Given the description of an element on the screen output the (x, y) to click on. 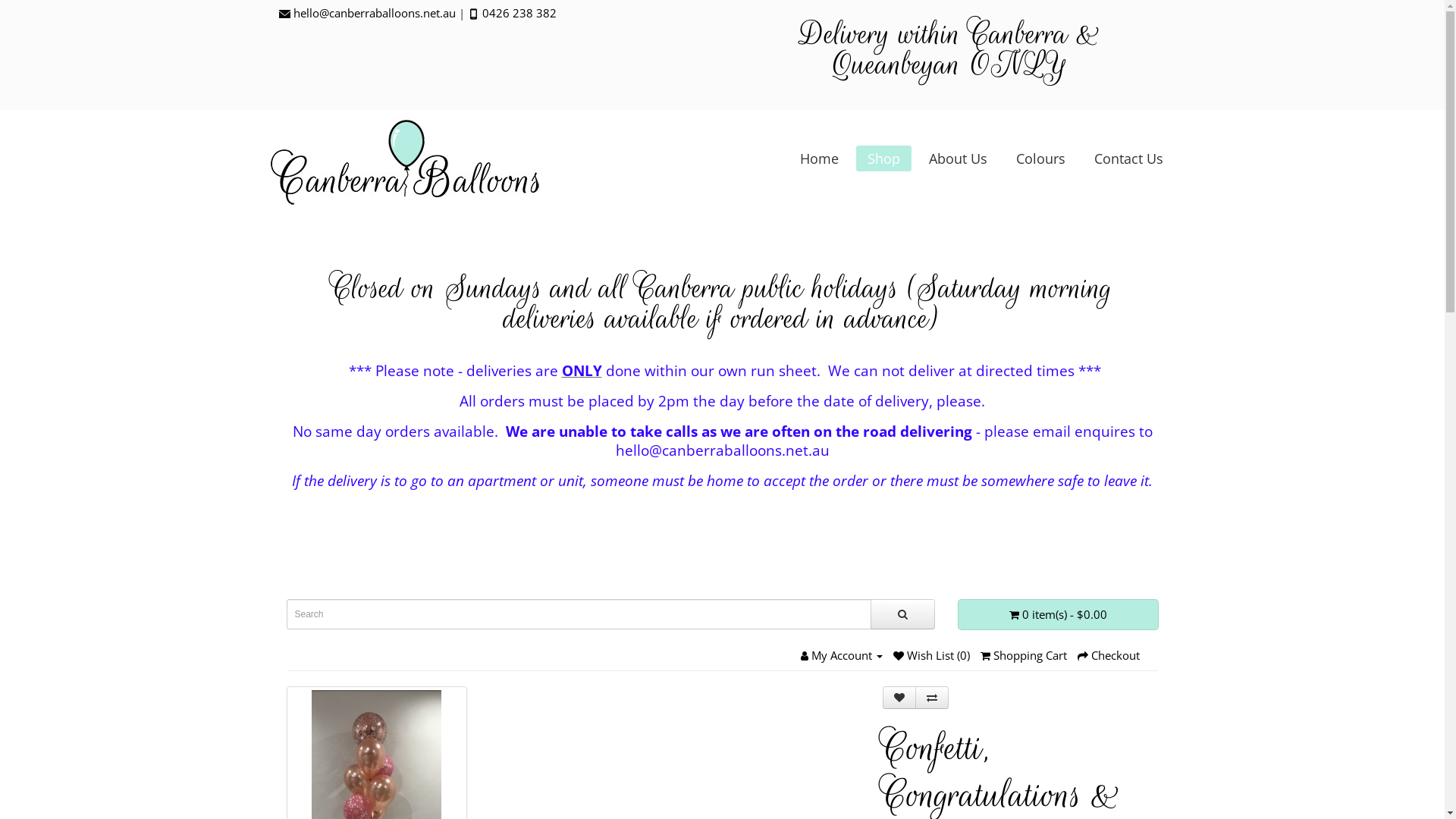
My Account Element type: text (841, 654)
Colours Element type: text (1040, 158)
About Us Element type: text (957, 158)
Shopping Cart Element type: text (1022, 654)
Checkout Element type: text (1107, 654)
Wish List (0) Element type: text (931, 654)
Shop Element type: text (883, 158)
0426 238 382 Element type: text (519, 12)
hello@canberraballoons.net.au Element type: text (373, 12)
Home Element type: text (818, 158)
0 item(s) - $0.00 Element type: text (1057, 614)
Contact Us Element type: text (1127, 158)
